Given the description of an element on the screen output the (x, y) to click on. 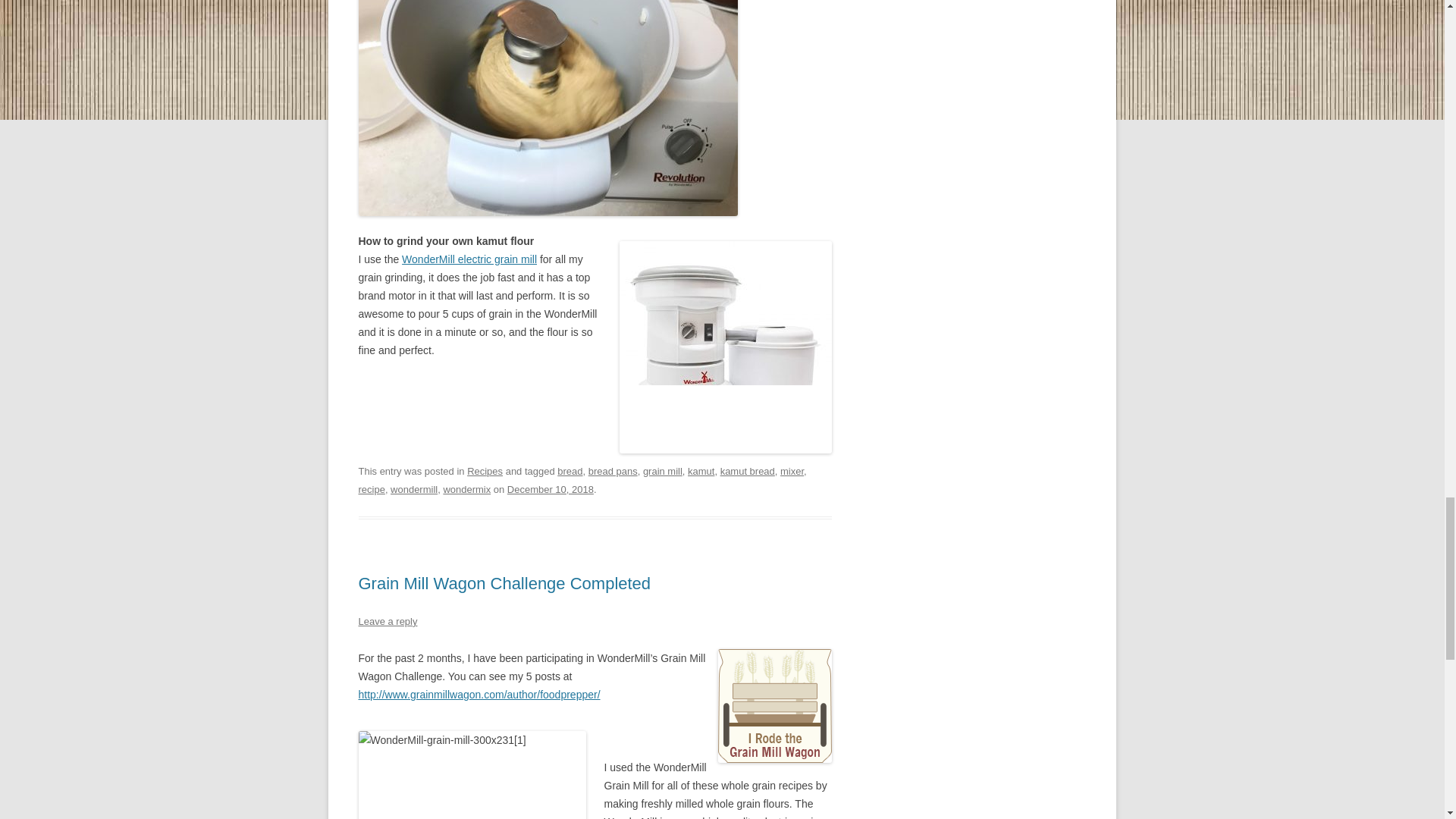
bread pans (612, 471)
kamut (700, 471)
4:18 pm (550, 489)
December 10, 2018 (550, 489)
recipe (371, 489)
Grain Mill Wagon Challenge Completed (504, 583)
grain mill (662, 471)
wondermill (414, 489)
WonderMill electric grain mill (469, 259)
wondermix (466, 489)
